Given the description of an element on the screen output the (x, y) to click on. 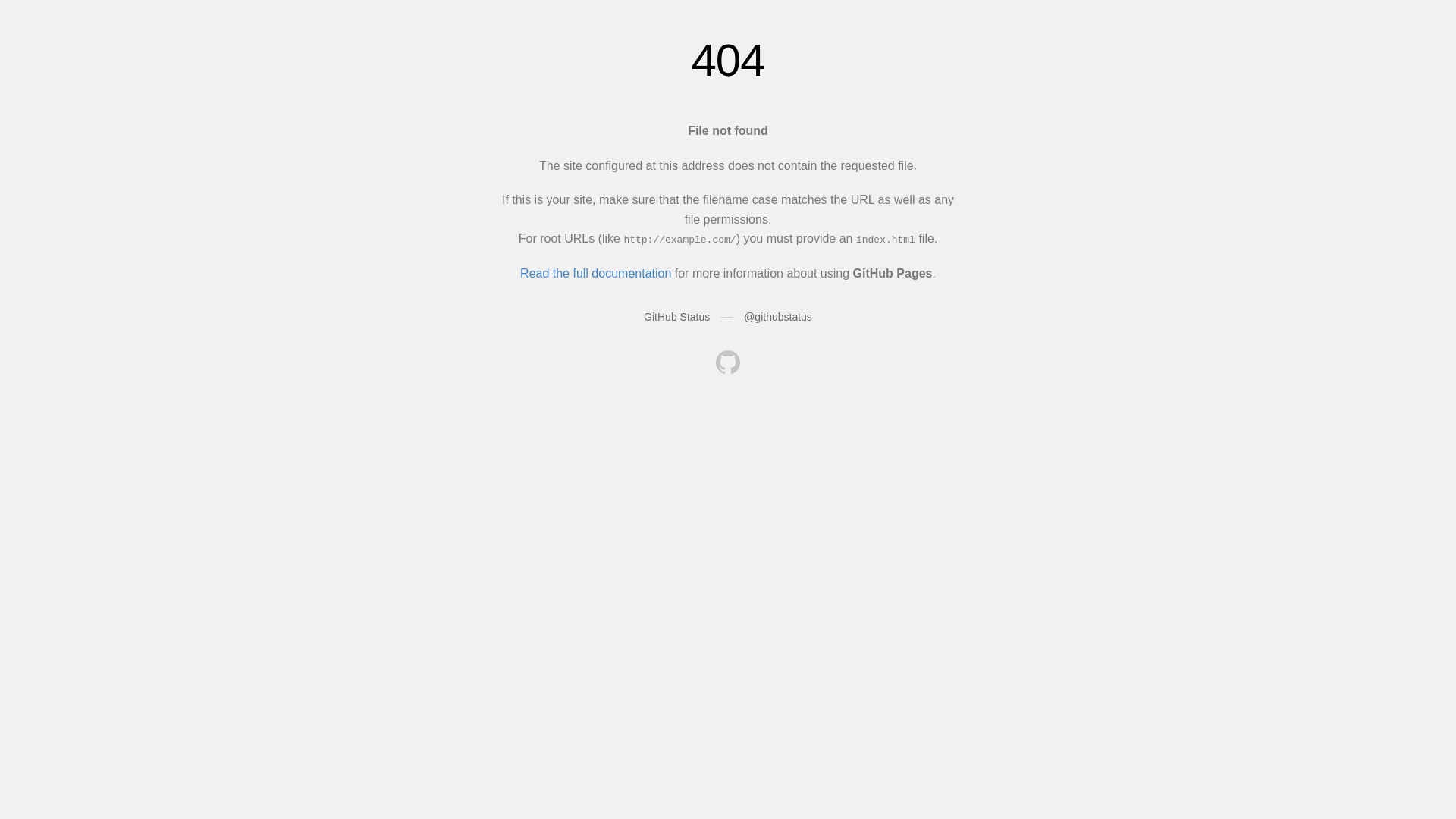
@githubstatus Element type: text (777, 316)
GitHub Status Element type: text (676, 316)
Read the full documentation Element type: text (595, 272)
